Given the description of an element on the screen output the (x, y) to click on. 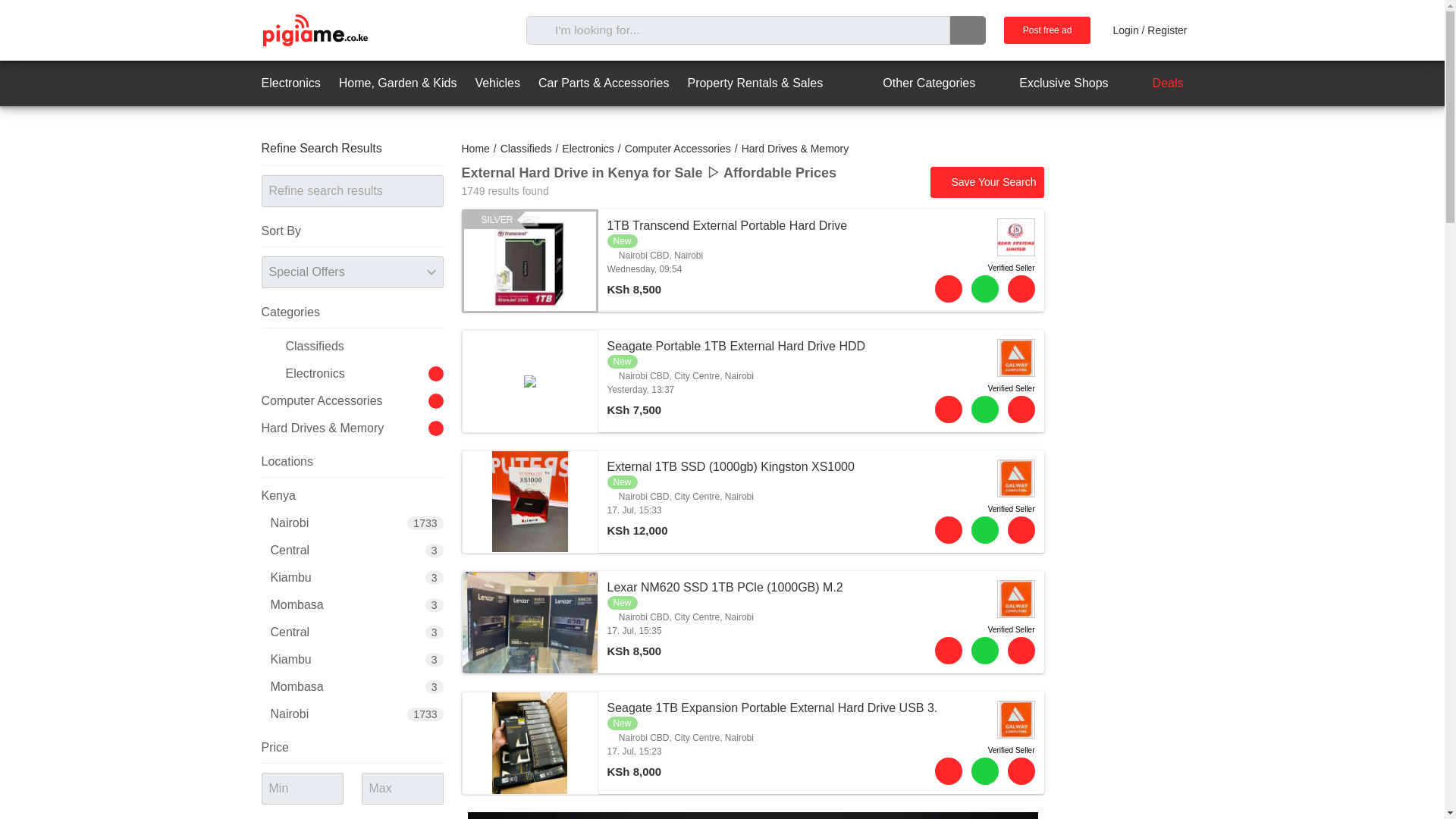
Electronics (290, 83)
Other Categories (915, 83)
PigiaMe (314, 29)
Post free ad (1047, 30)
Deals (1155, 83)
Home (475, 148)
Exclusive Shops (1050, 83)
Classifieds (525, 148)
